Given the description of an element on the screen output the (x, y) to click on. 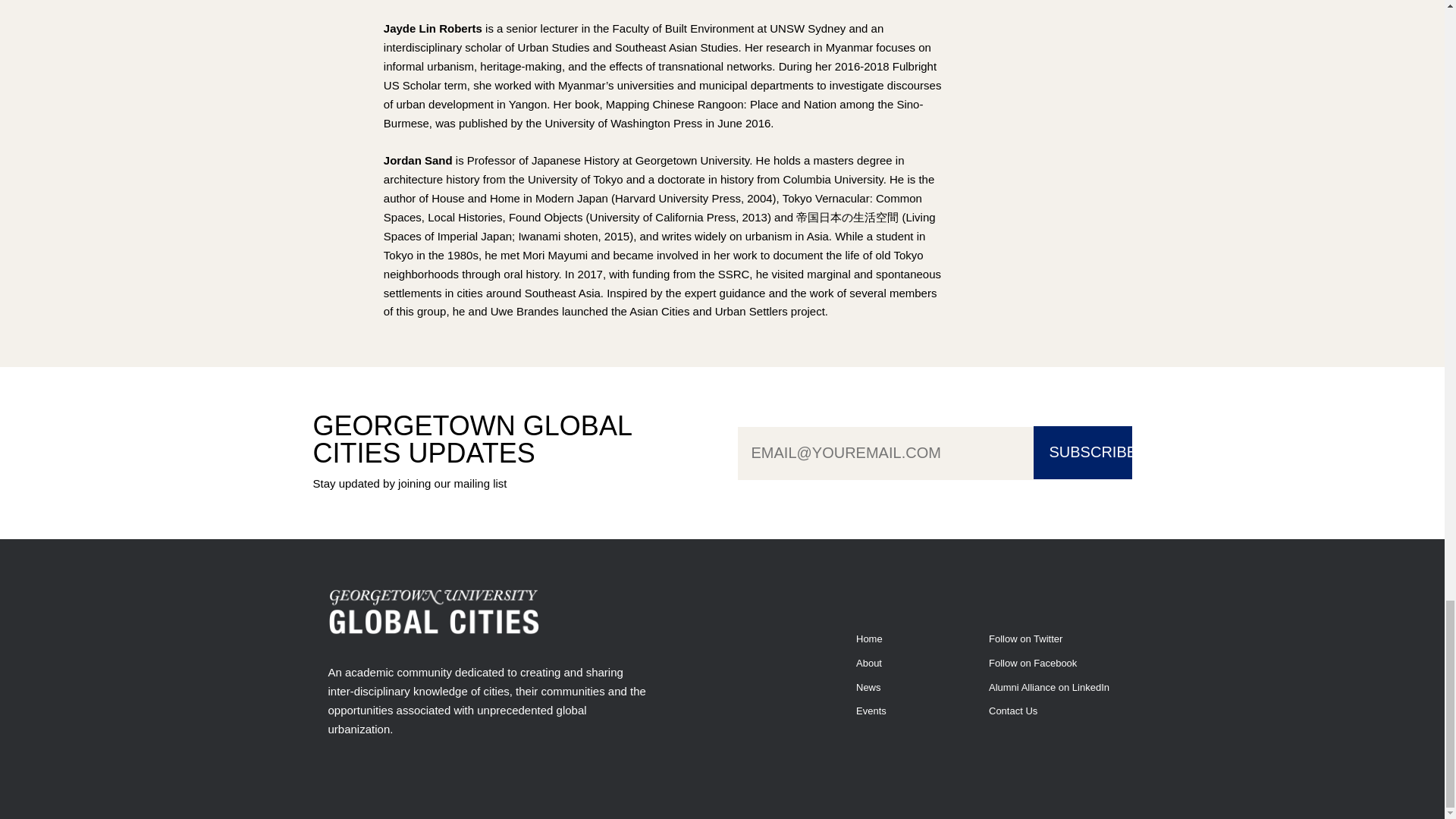
Home (869, 638)
News (868, 686)
Events (871, 710)
Alumni Alliance on LinkedIn (1048, 686)
Follow on Facebook (1032, 663)
Contact Us (1012, 710)
Follow on Twitter (1025, 638)
About (869, 663)
SUBSCRIBE (1081, 452)
